Given the description of an element on the screen output the (x, y) to click on. 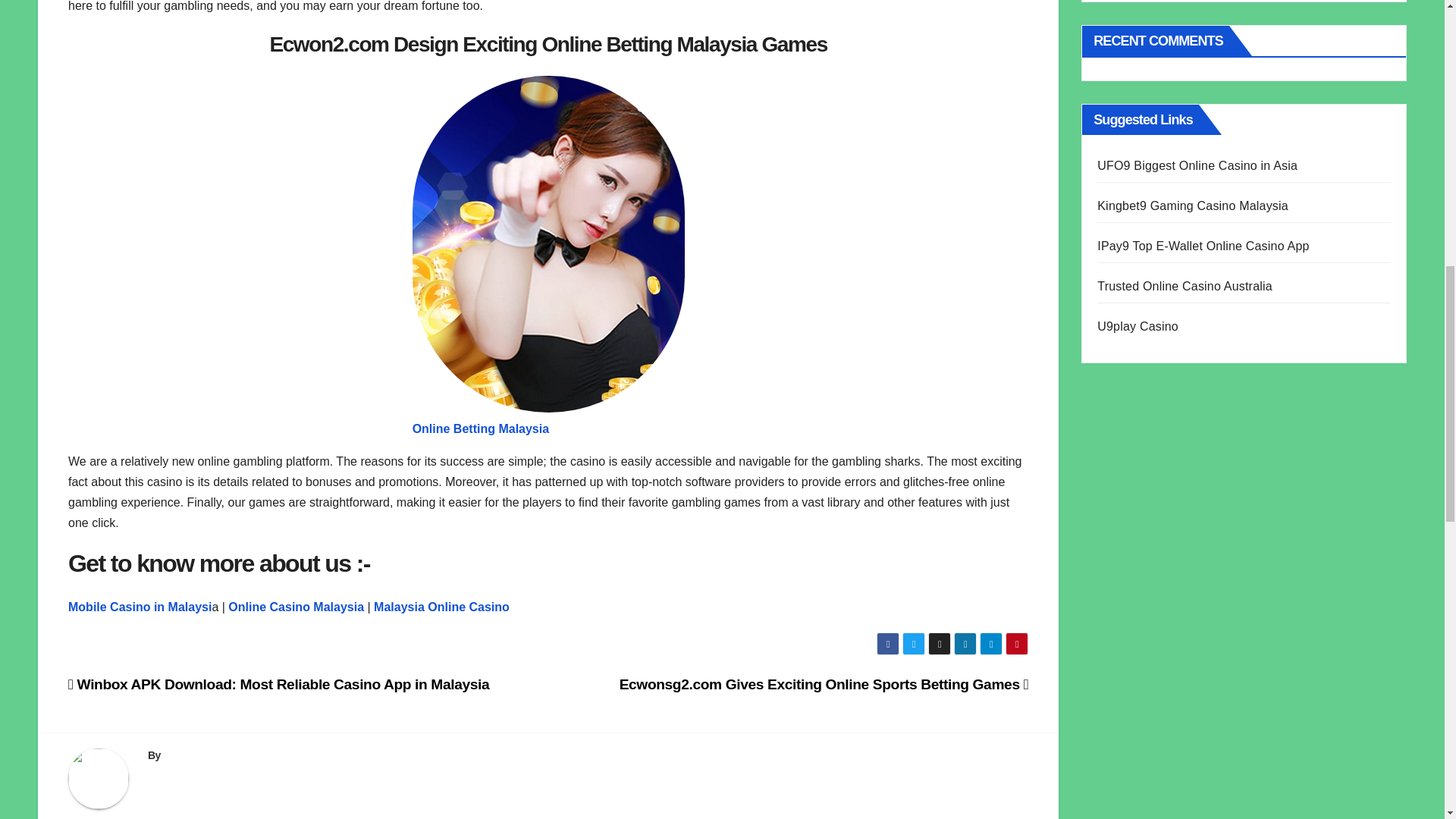
Mobile Casino in Malaysi (139, 606)
Winbox APK Download: Most Reliable Casino App in Malaysia (278, 684)
Ecwonsg2.com Gives Exciting Online Sports Betting Games (824, 684)
Online Casino Malaysia (296, 606)
Malaysia Online Casino (441, 606)
Online Betting Malaysia (480, 428)
